Given the description of an element on the screen output the (x, y) to click on. 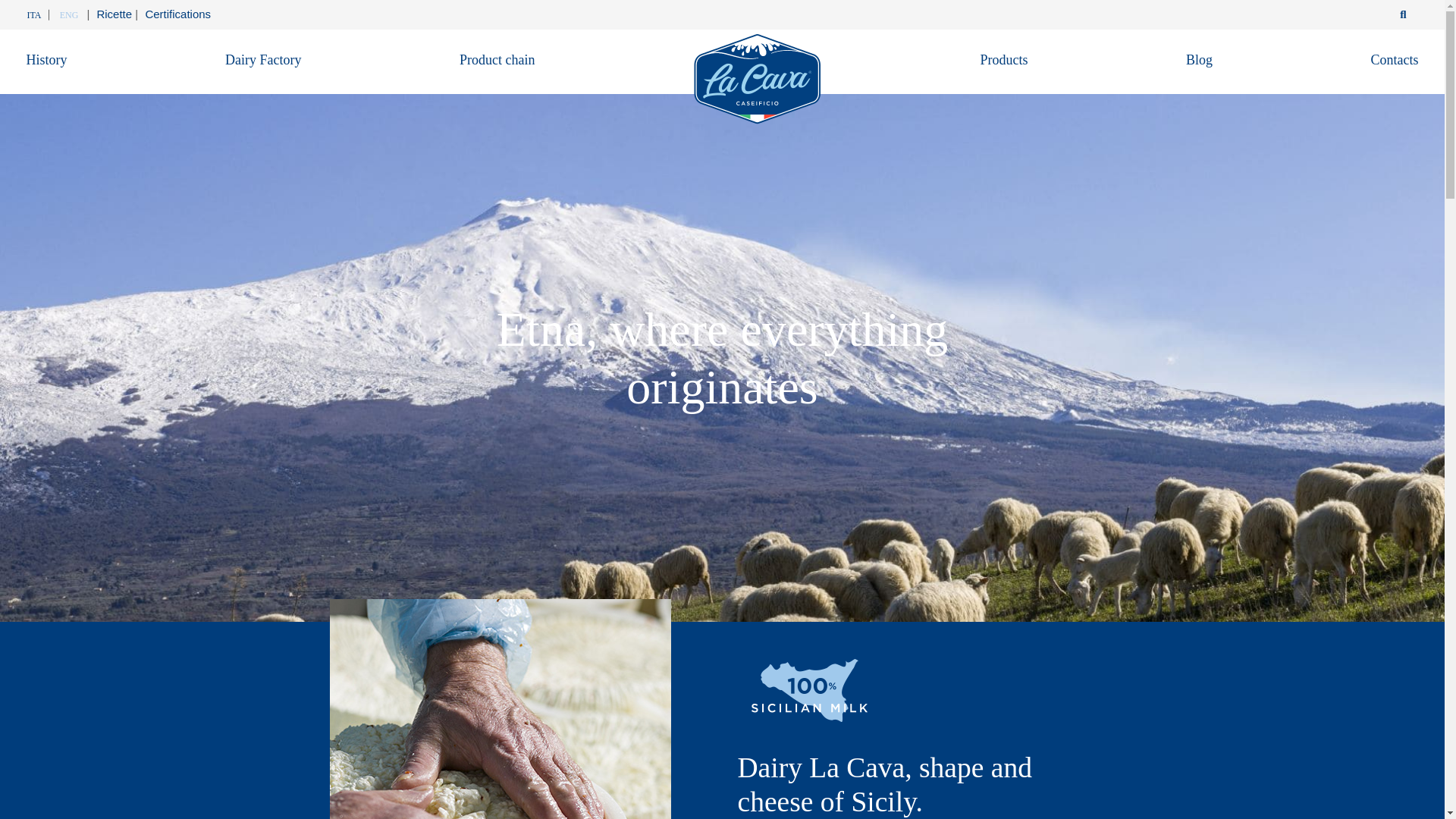
Cerca (1402, 14)
ITA (38, 14)
Cerca (1402, 14)
Dairy Factory (263, 58)
Product chain (497, 58)
ENG (68, 14)
